Given the description of an element on the screen output the (x, y) to click on. 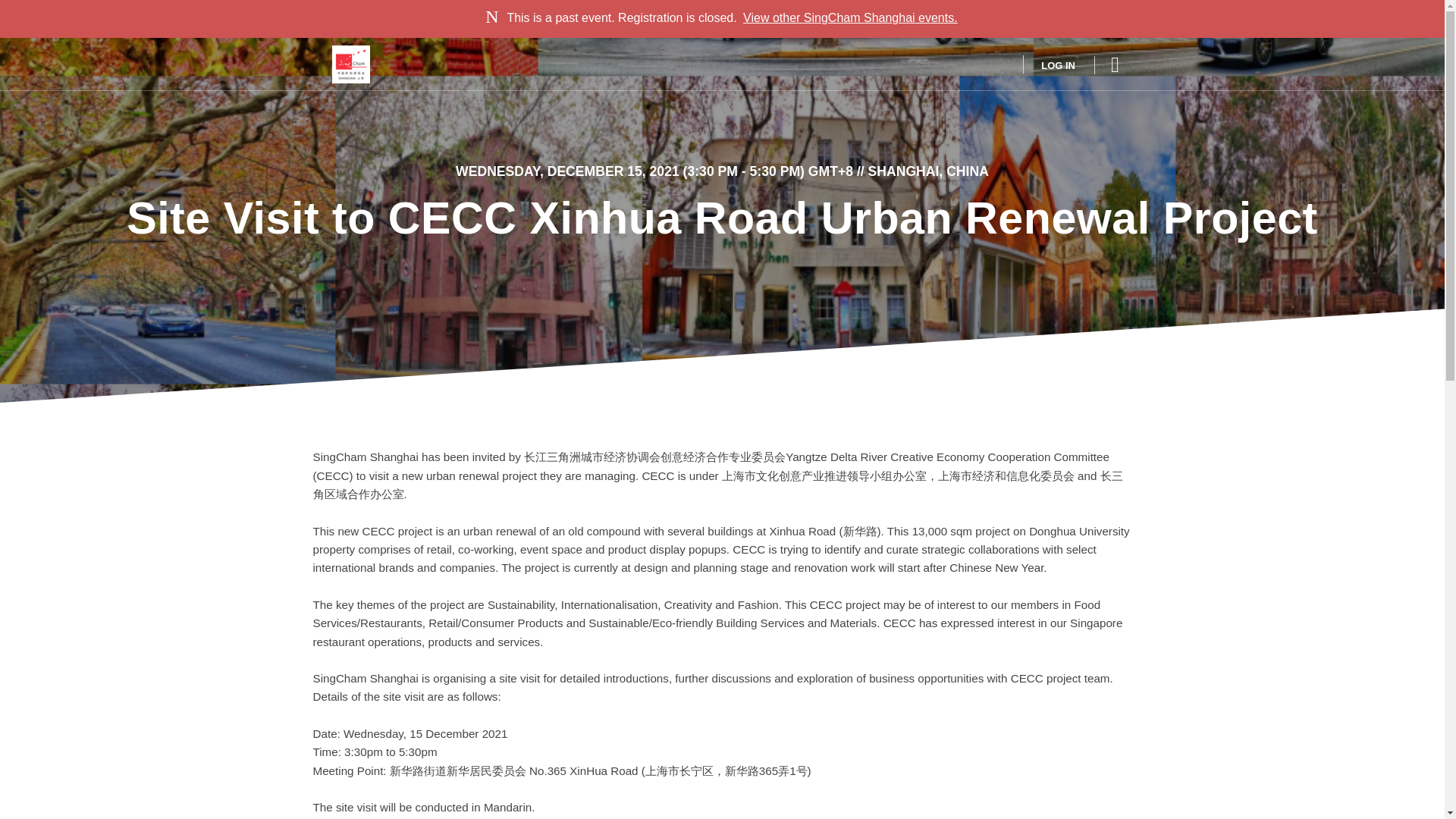
LOG IN (1048, 63)
View other SingCham Shanghai events. (850, 17)
Sign in (1048, 63)
